Given the description of an element on the screen output the (x, y) to click on. 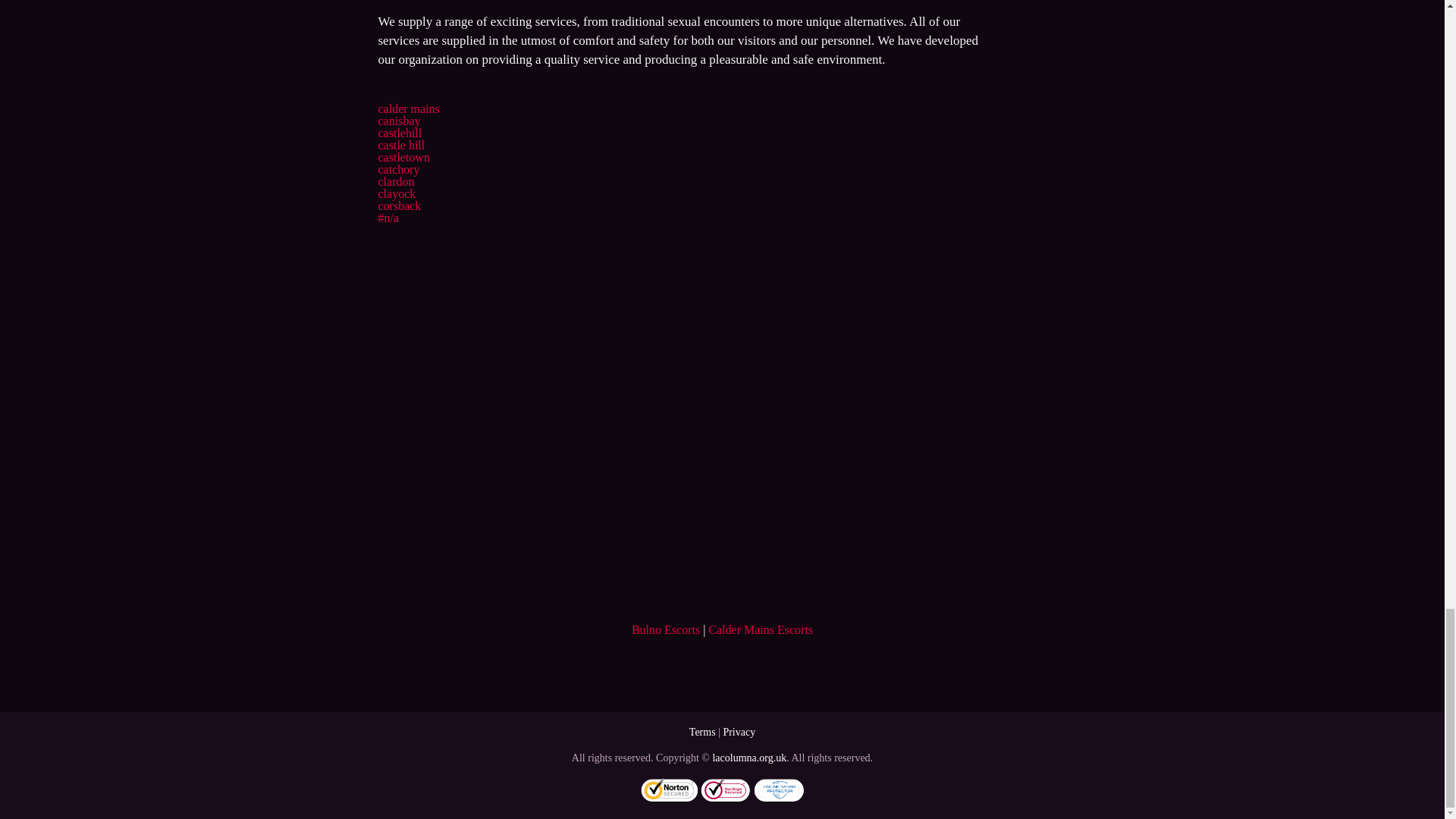
Terms (702, 731)
canisbay (398, 120)
lacolumna.org.uk (748, 757)
Privacy (738, 731)
castletown (403, 156)
Terms (702, 731)
Bulno Escorts (665, 629)
castle hill (401, 144)
clayock (395, 193)
corsback (398, 205)
Calder Mains Escorts (759, 629)
castlehill (399, 132)
calder mains (408, 108)
clardon (395, 181)
Privacy (738, 731)
